Given the description of an element on the screen output the (x, y) to click on. 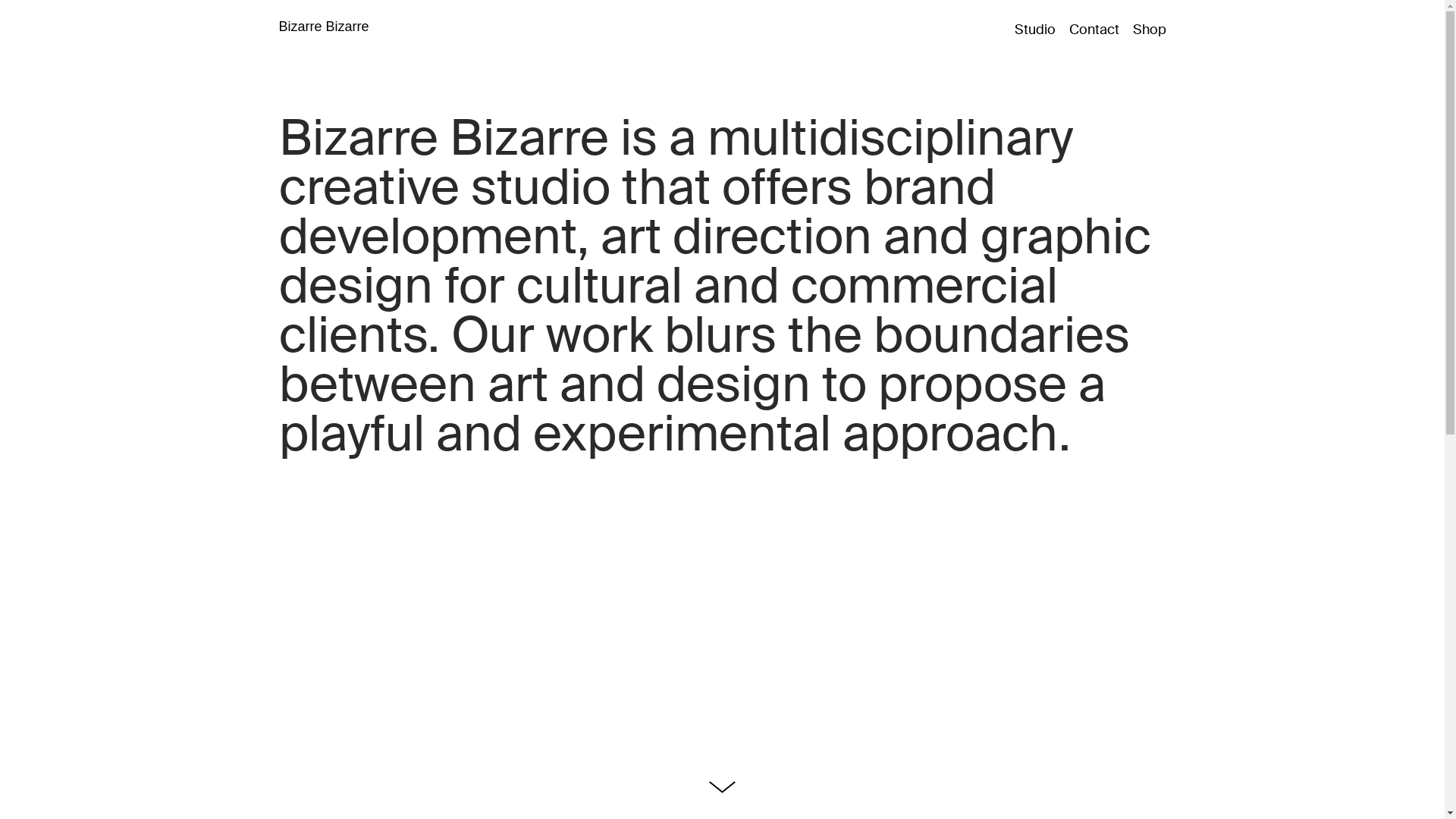
Shop Element type: text (1145, 28)
Studio Element type: text (1038, 28)
Contact Element type: text (1093, 28)
Bizarre Bizarre Element type: text (324, 26)
